Given the description of an element on the screen output the (x, y) to click on. 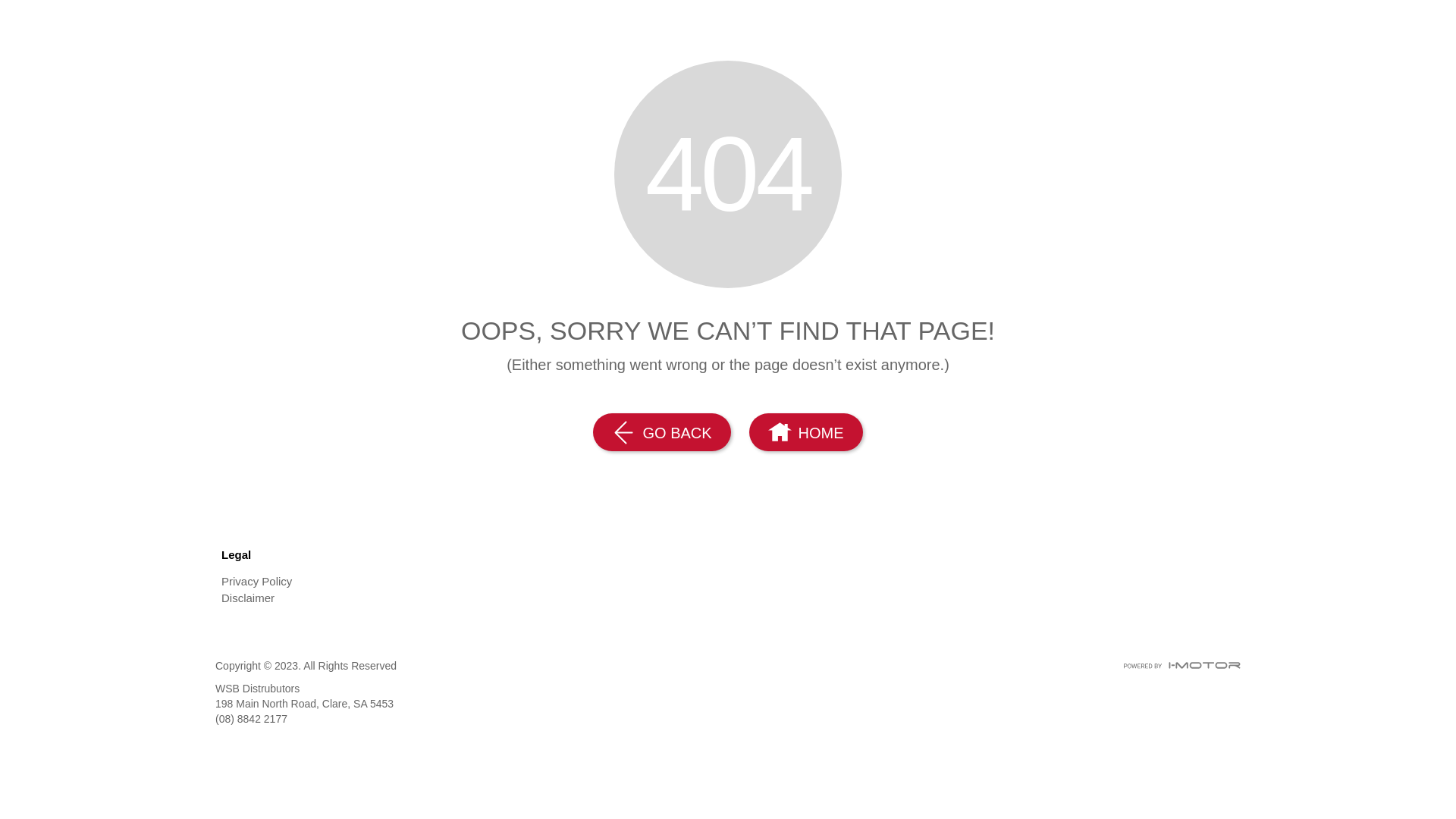
HOME Element type: text (805, 432)
GO BACK Element type: text (661, 432)
Disclaimer Element type: text (343, 597)
Privacy Policy Element type: text (343, 581)
